Given the description of an element on the screen output the (x, y) to click on. 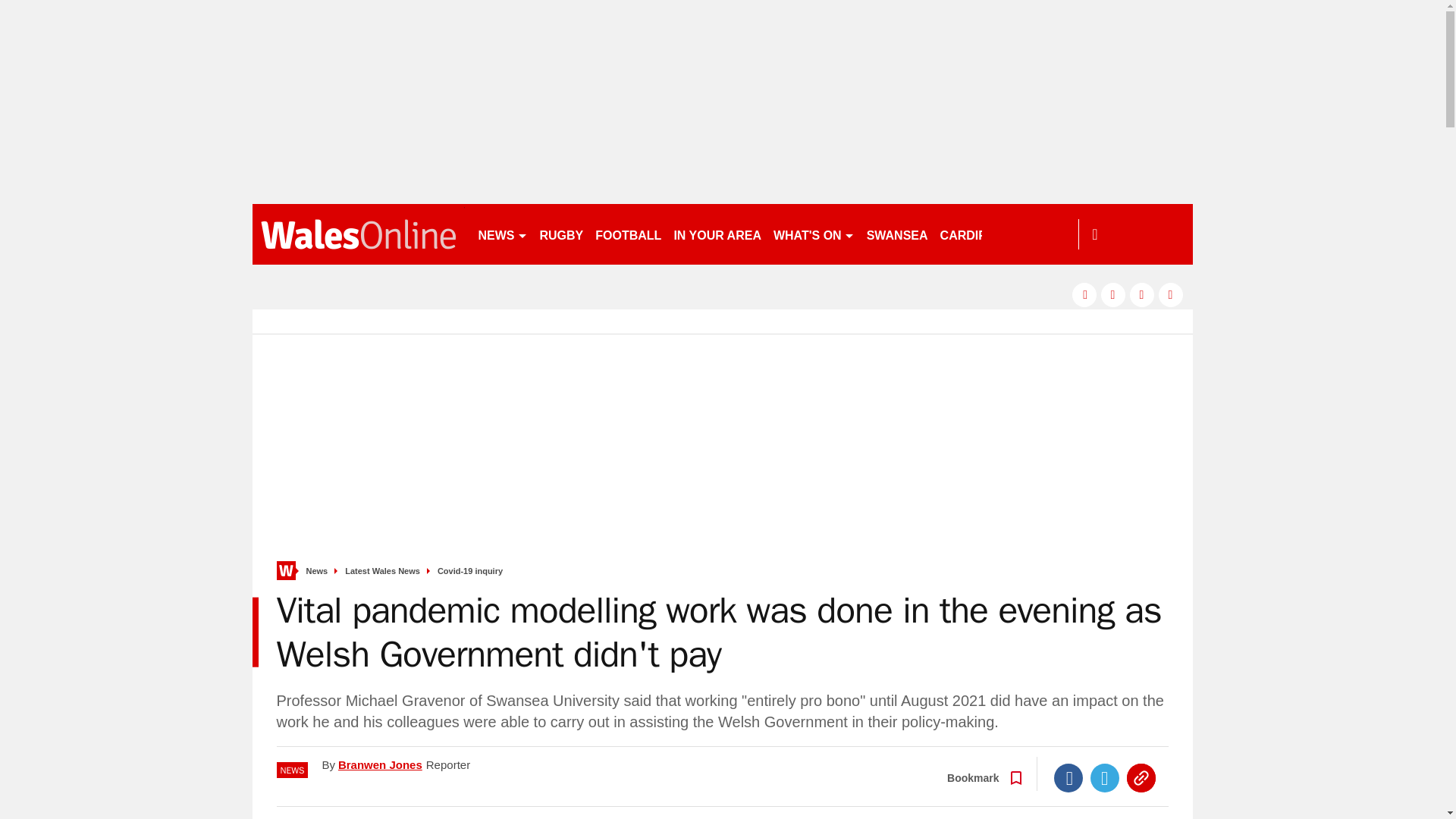
SWANSEA (897, 233)
IN YOUR AREA (716, 233)
instagram (1170, 294)
facebook (1083, 294)
WHAT'S ON (813, 233)
walesonline (357, 233)
Twitter (1104, 777)
pinterest (1141, 294)
twitter (1112, 294)
RUGBY (561, 233)
Facebook (1068, 777)
FOOTBALL (627, 233)
NEWS (501, 233)
